Given the description of an element on the screen output the (x, y) to click on. 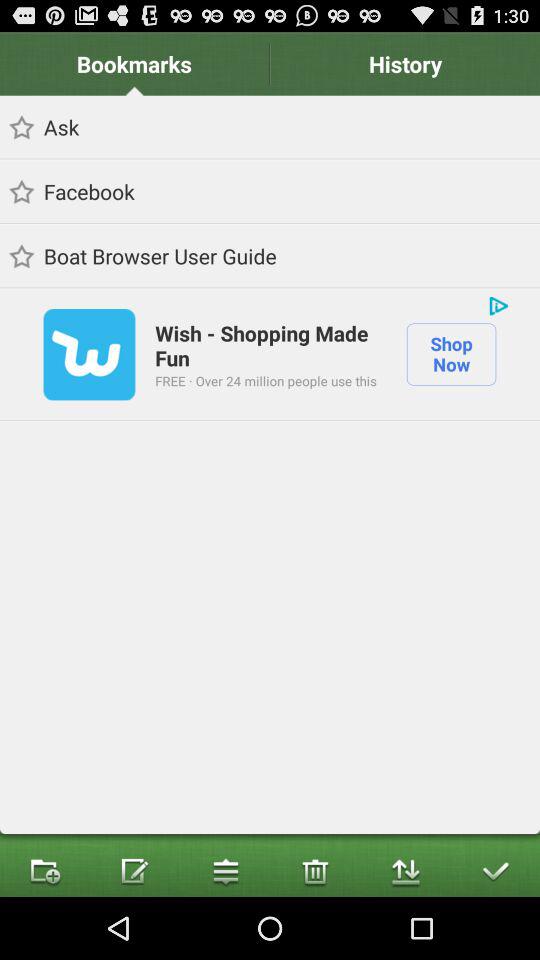
click icon above free over 24 icon (270, 344)
